Given the description of an element on the screen output the (x, y) to click on. 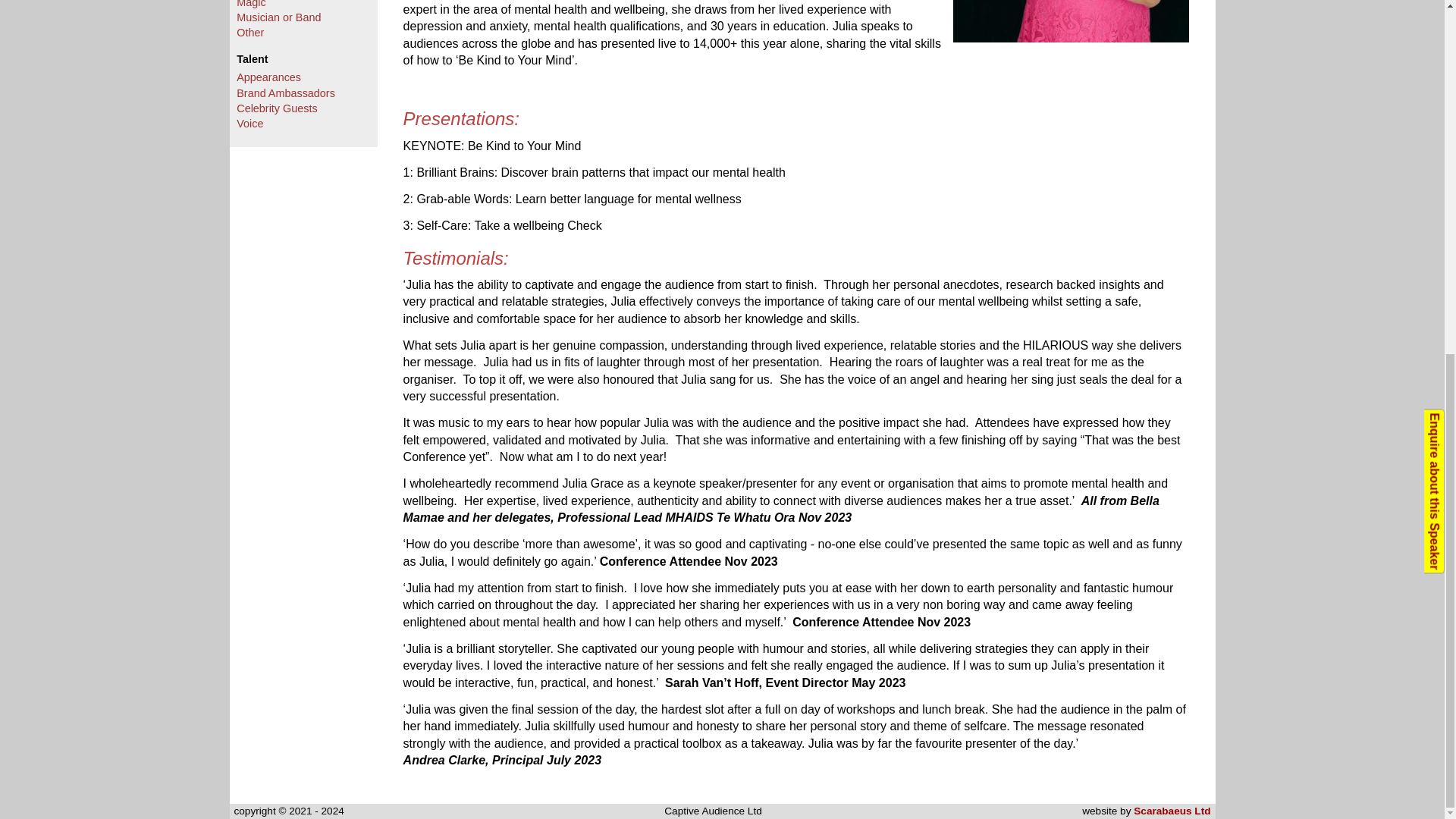
Appearances (268, 77)
Other (249, 32)
Celebrity Guests (276, 108)
Voice (249, 123)
Musician or Band (277, 17)
Magic (249, 4)
Scarabaeus Ltd (1171, 810)
Brand Ambassadors (284, 92)
